Given the description of an element on the screen output the (x, y) to click on. 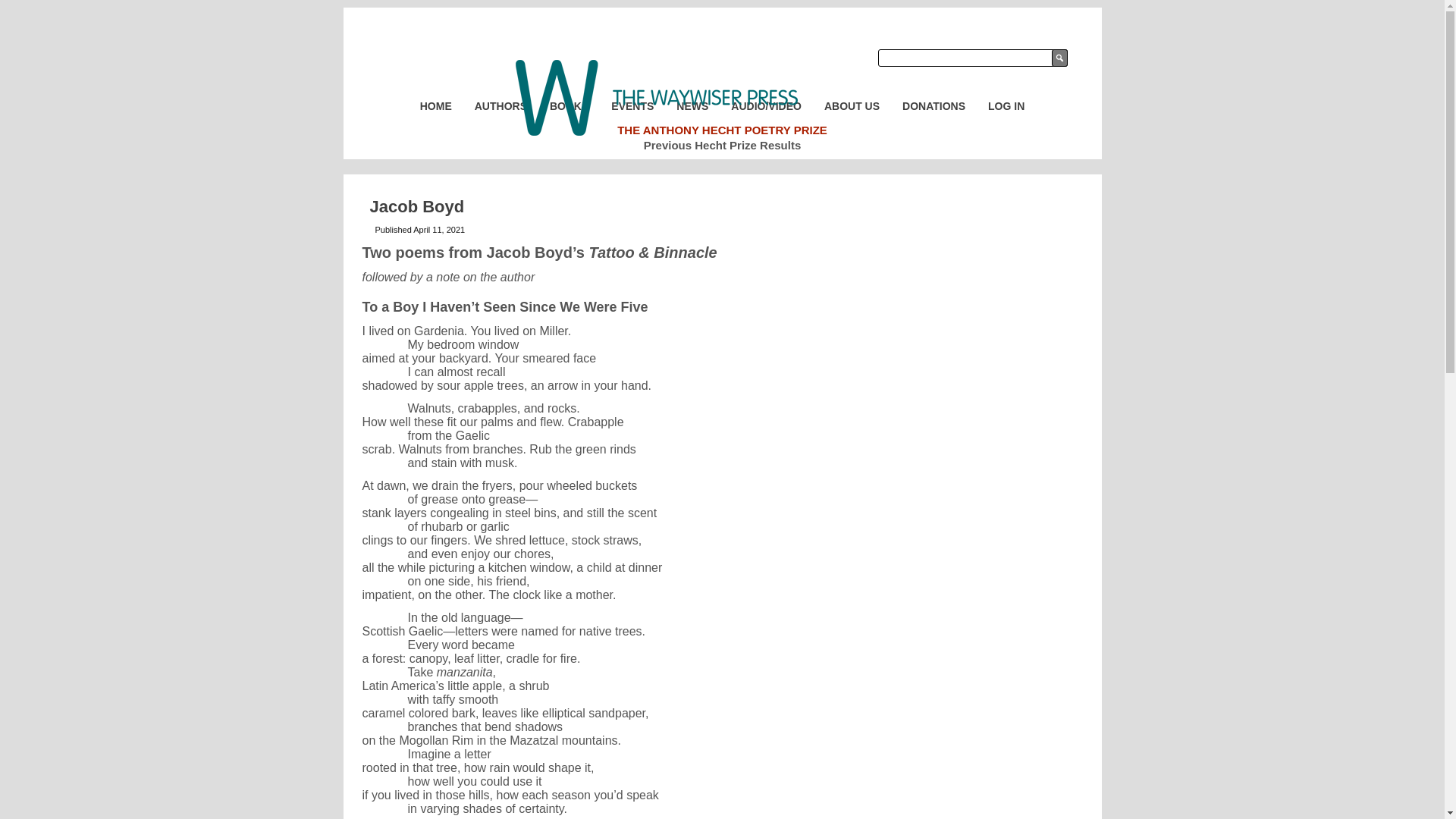
Events (632, 106)
NEWS (692, 106)
THE ANTHONY HECHT POETRY PRIZE (722, 129)
Books (568, 106)
Home (436, 106)
ABOUT US (851, 106)
LOG IN (1005, 106)
Previous Hecht Prize Results (722, 144)
HOME (436, 106)
Authors (500, 106)
News (692, 106)
The Waywiser Press (656, 97)
EVENTS (632, 106)
About Us (851, 106)
BOOKS (568, 106)
